Given the description of an element on the screen output the (x, y) to click on. 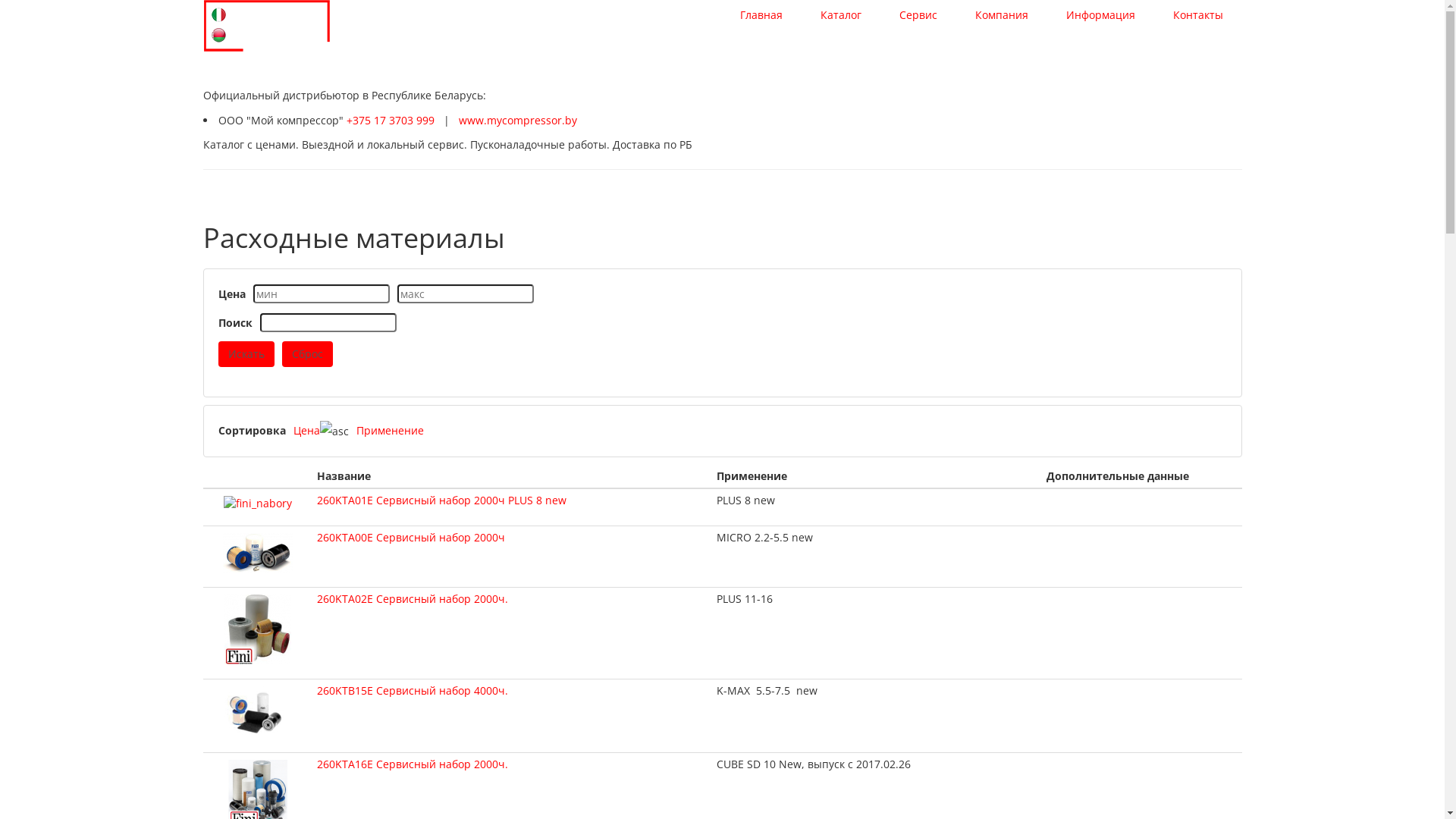
+375 17 3703 999 Element type: text (389, 119)
www.mycompressor.by Element type: text (517, 119)
